Given the description of an element on the screen output the (x, y) to click on. 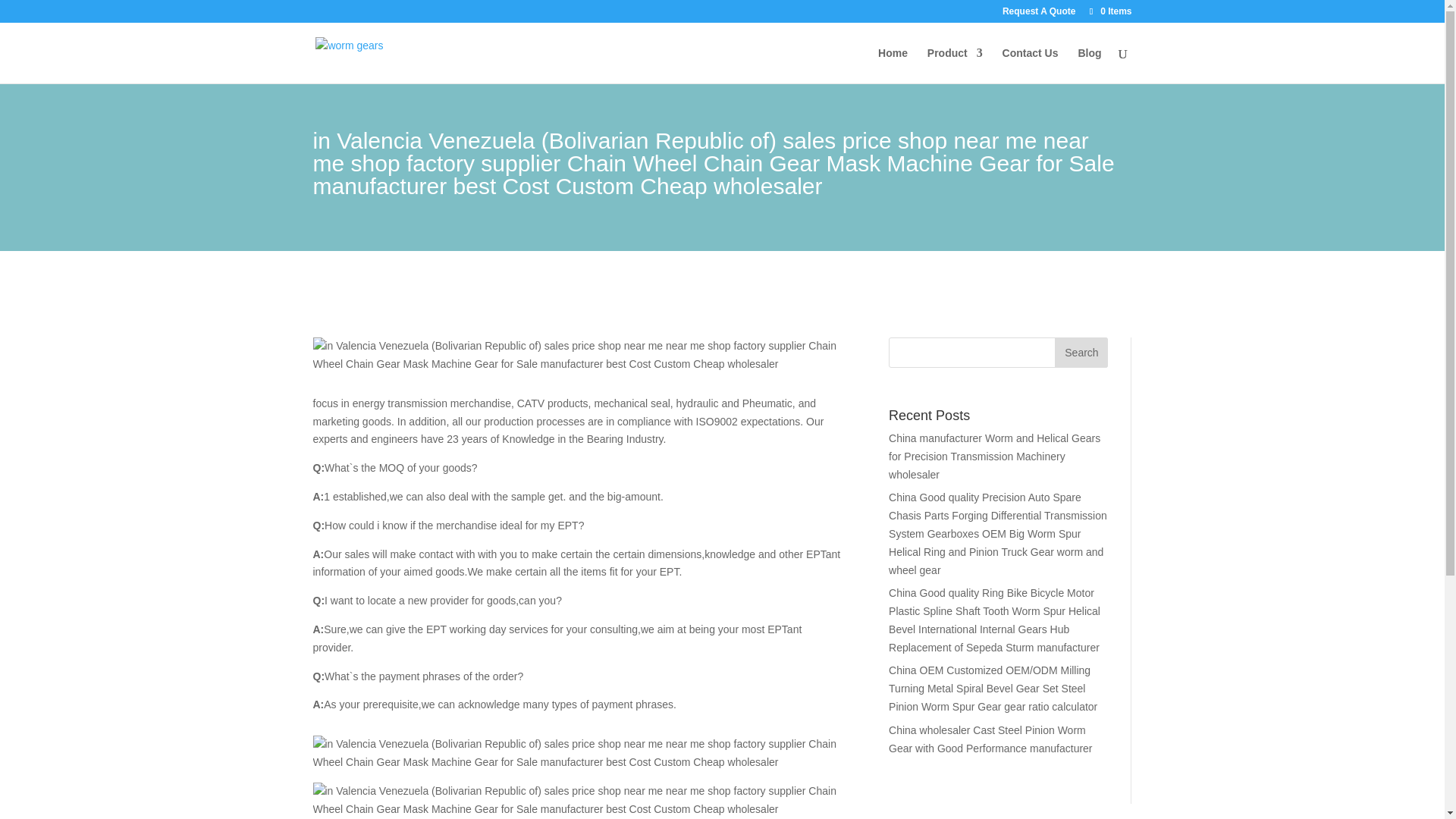
Contact Us (1030, 65)
Product (954, 65)
0 Items (1108, 10)
Search (1081, 352)
Request A Quote (1039, 14)
Search (1081, 352)
